Given the description of an element on the screen output the (x, y) to click on. 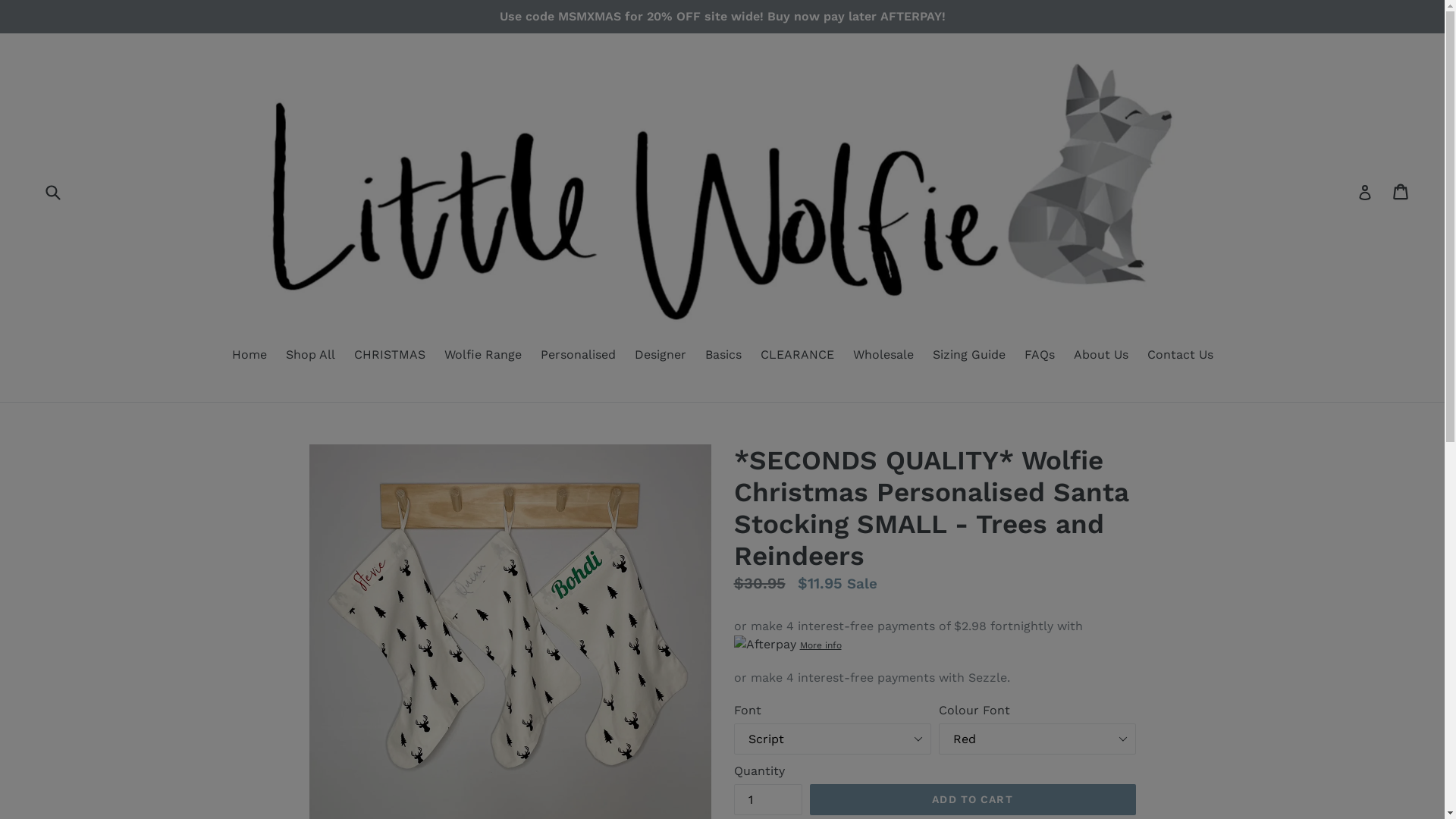
FAQs Element type: text (1038, 355)
Wolfie Range Element type: text (482, 355)
Personalised Element type: text (577, 355)
Sizing Guide Element type: text (969, 355)
Designer Element type: text (659, 355)
Basics Element type: text (723, 355)
Contact Us Element type: text (1179, 355)
About Us Element type: text (1100, 355)
Log in Element type: text (1364, 190)
Home Element type: text (249, 355)
CLEARANCE Element type: text (796, 355)
CHRISTMAS Element type: text (388, 355)
Cart
Cart Element type: text (1401, 191)
More info Element type: text (934, 644)
ADD TO CART Element type: text (972, 799)
Wholesale Element type: text (882, 355)
Submit Element type: text (51, 191)
Shop All Element type: text (309, 355)
